Given the description of an element on the screen output the (x, y) to click on. 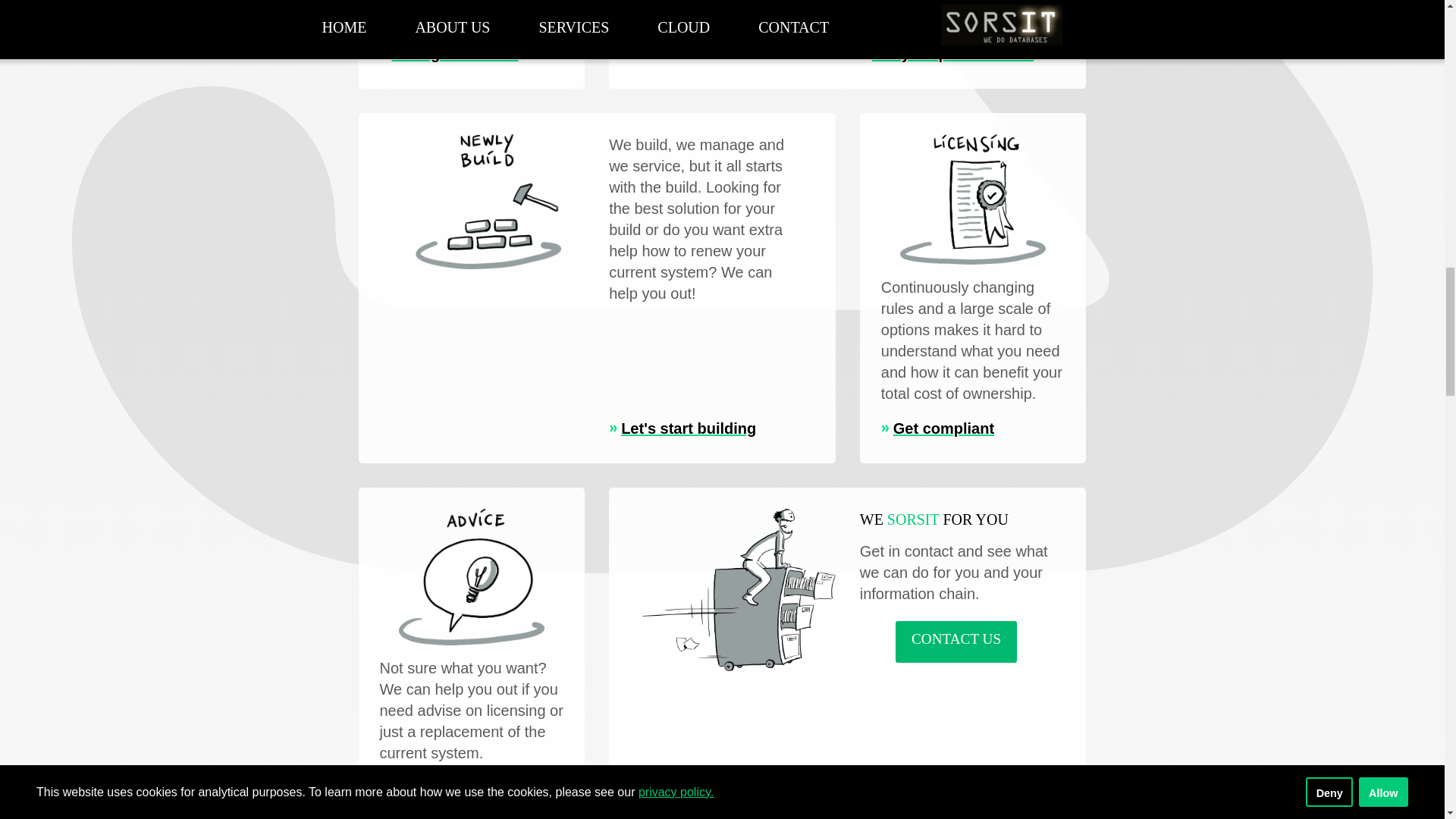
Get your pair of hands (946, 53)
CONTACT US (955, 641)
Get compliant (937, 427)
Let's start building (681, 427)
Let's get watched (448, 53)
How we can help (445, 787)
